Given the description of an element on the screen output the (x, y) to click on. 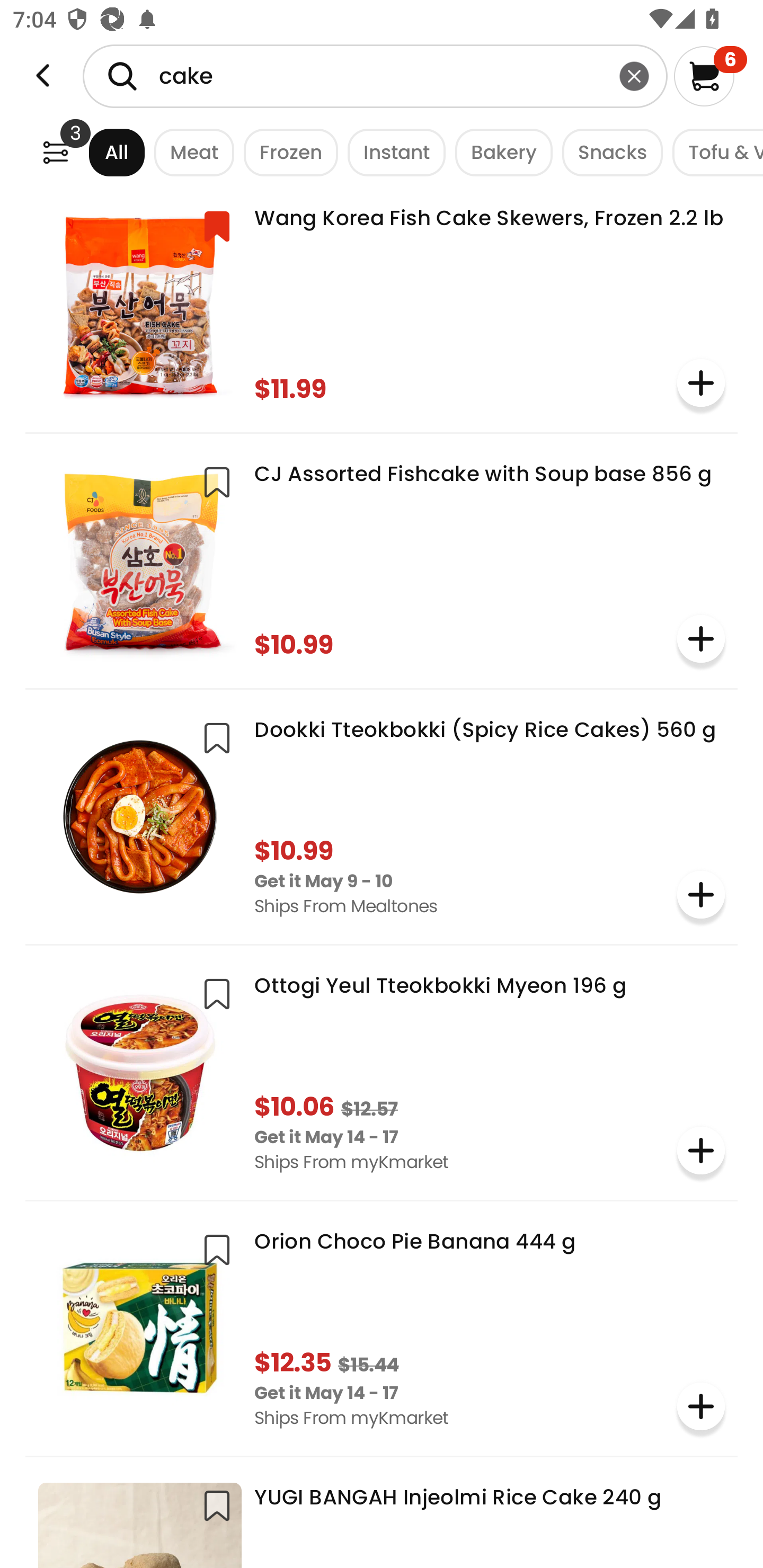
cake (374, 75)
6 (709, 75)
Weee! (42, 76)
Weee! (55, 151)
All (99, 151)
Meat (189, 151)
Frozen (286, 151)
Instant (391, 151)
Bakery (498, 151)
Snacks (607, 151)
Tofu & Vegan (713, 151)
Wang Korea Fish Cake Skewers, Frozen 2.2 lb $11.99 (381, 304)
CJ Assorted Fishcake with Soup base 856 g $10.99 (381, 559)
YUGI BANGAH Injeolmi Rice Cake 240 g (381, 1519)
